Given the description of an element on the screen output the (x, y) to click on. 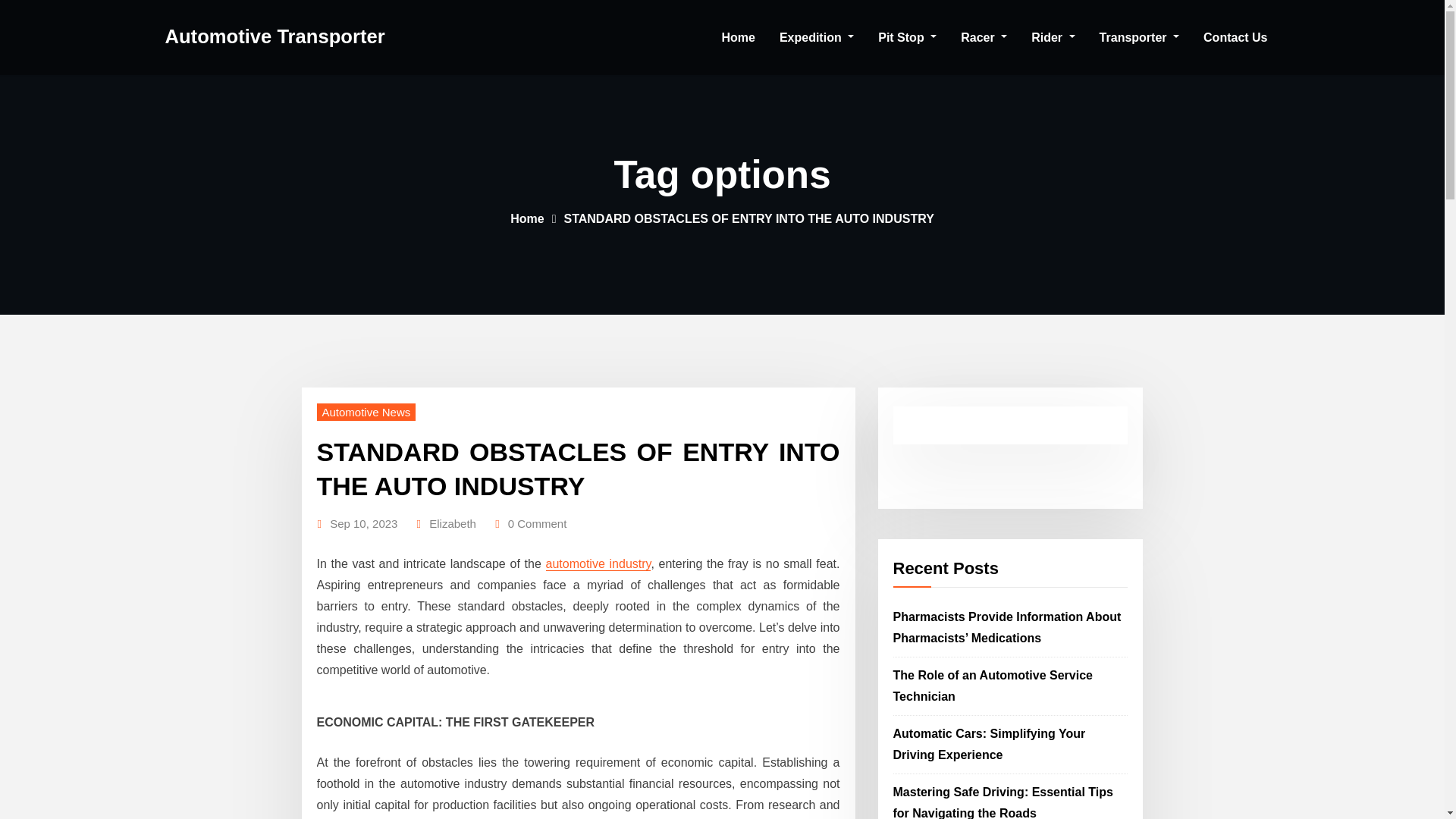
Transporter (1139, 37)
automotive industry (598, 563)
Contact Us (1235, 37)
Elizabeth (452, 523)
Automotive Transporter (275, 35)
Rider (1052, 37)
Sep 10, 2023 (363, 523)
Pit Stop (907, 37)
STANDARD OBSTACLES OF ENTRY INTO THE AUTO INDUSTRY (578, 468)
Expedition (816, 37)
